Given the description of an element on the screen output the (x, y) to click on. 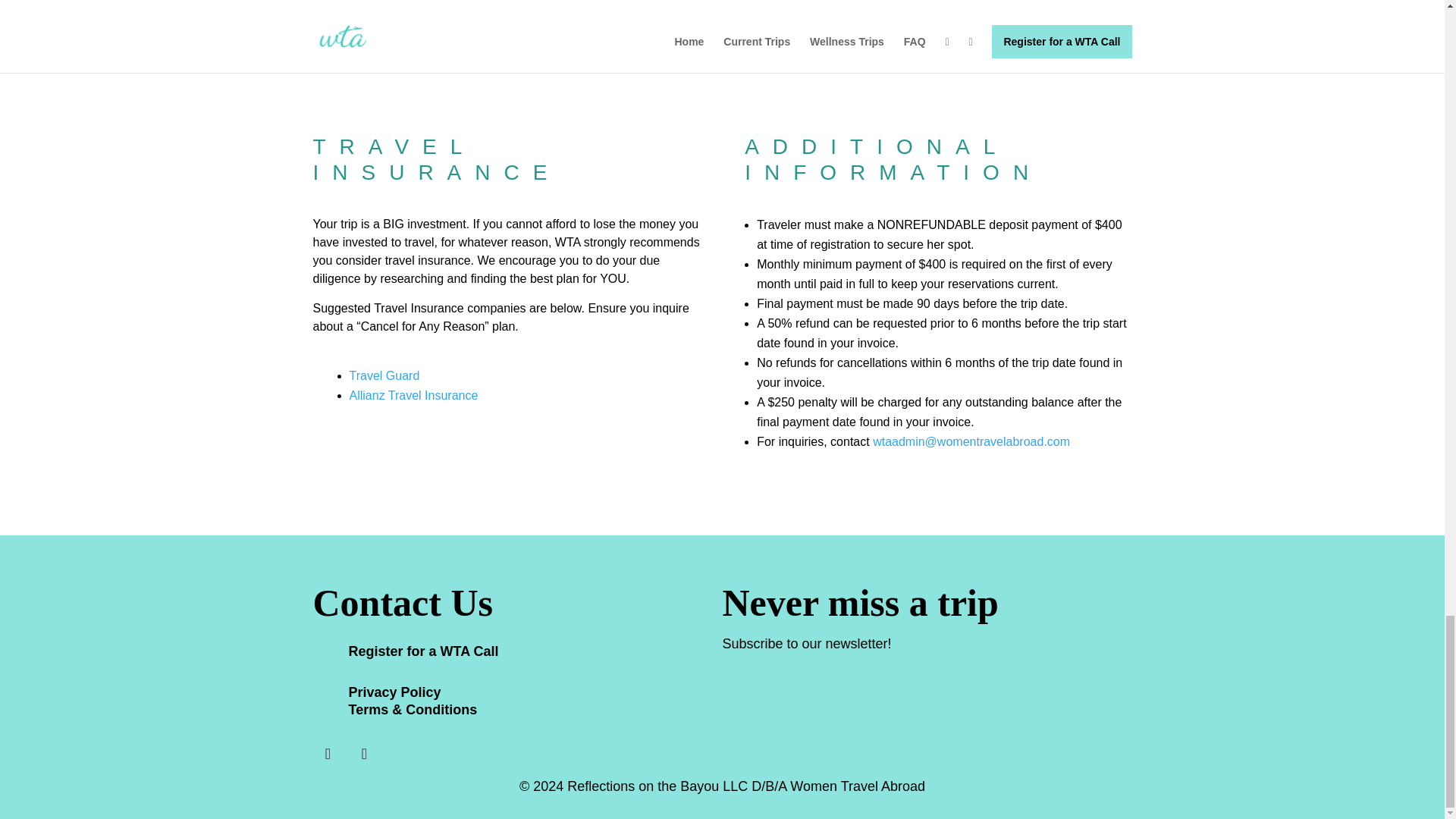
Travel Guard (384, 375)
Follow on Facebook (327, 753)
Allianz Travel Insurance (413, 395)
Follow on Instagram (363, 753)
Register for a WTA Call (424, 651)
Privacy Policy (395, 692)
